Given the description of an element on the screen output the (x, y) to click on. 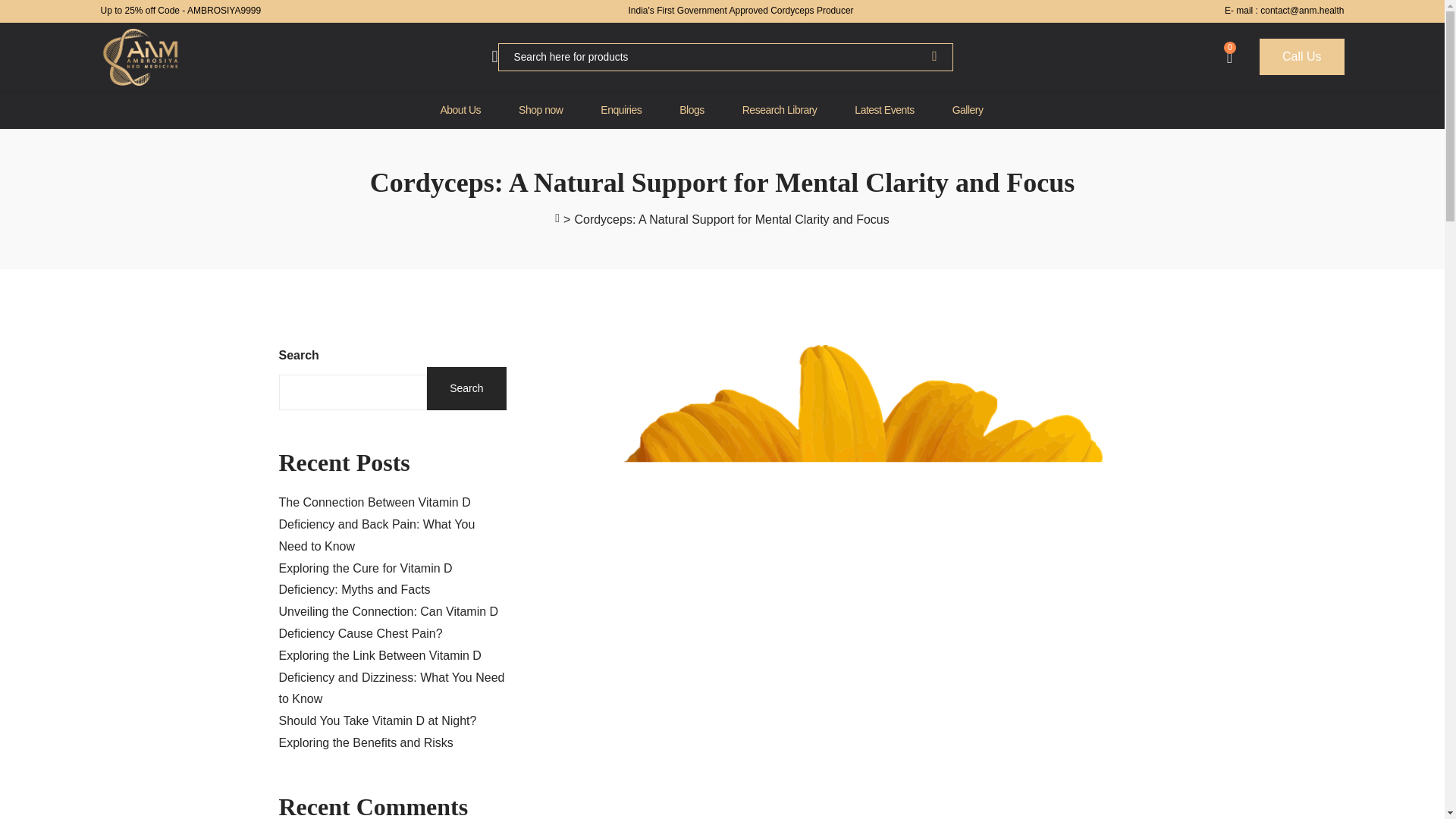
Gallery (968, 109)
Search (465, 388)
Call Us (1301, 57)
Exploring the Cure for Vitamin D Deficiency: Myths and Facts (365, 579)
Enquiries (620, 109)
Shop now (539, 109)
Latest Events (884, 109)
Blogs (692, 109)
Research Library (779, 109)
About Us (459, 109)
